Given the description of an element on the screen output the (x, y) to click on. 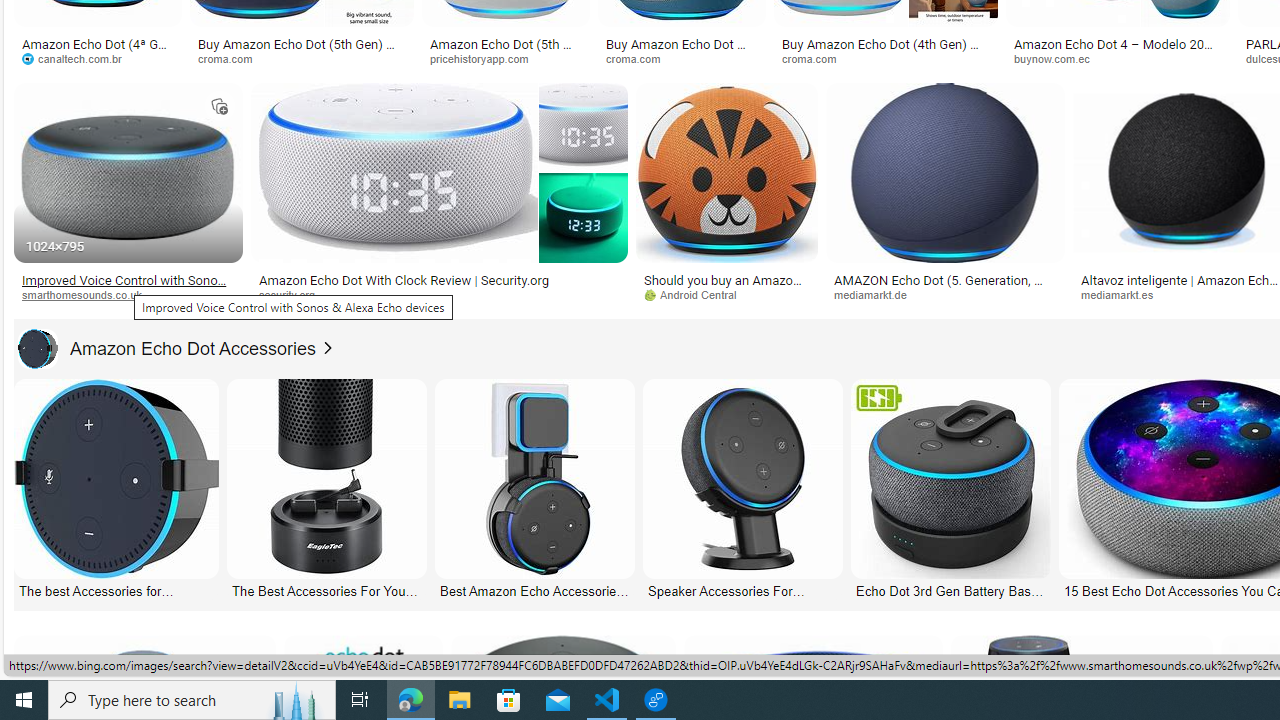
Improved Voice Control with Sonos & Alexa Echo devices (128, 286)
Android Central (697, 294)
buynow.com.ec (1058, 57)
